Given the description of an element on the screen output the (x, y) to click on. 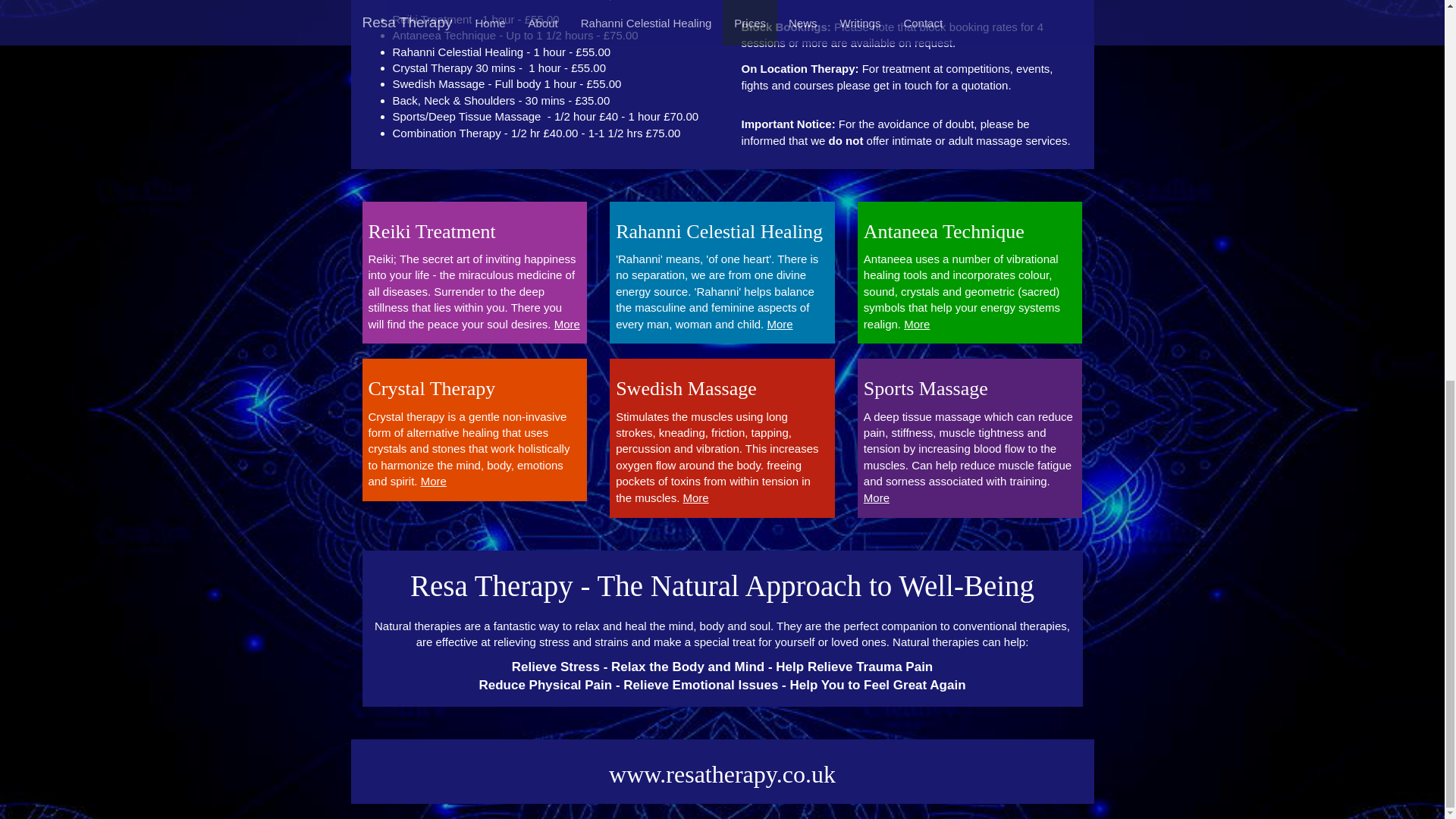
More (876, 497)
More (779, 323)
More (917, 323)
More (566, 323)
More (433, 481)
More (695, 497)
